Given the description of an element on the screen output the (x, y) to click on. 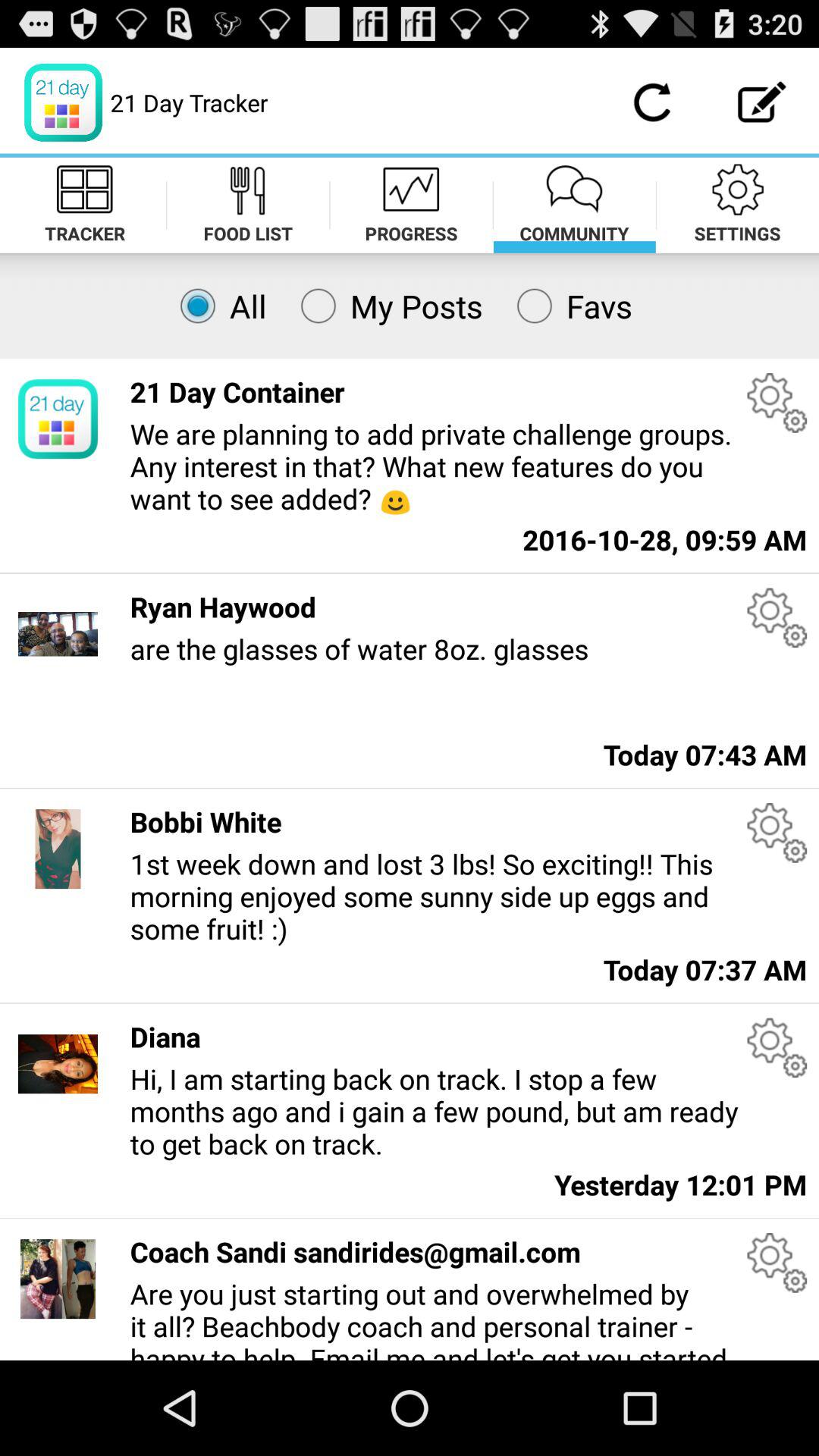
open settings (777, 402)
